Given the description of an element on the screen output the (x, y) to click on. 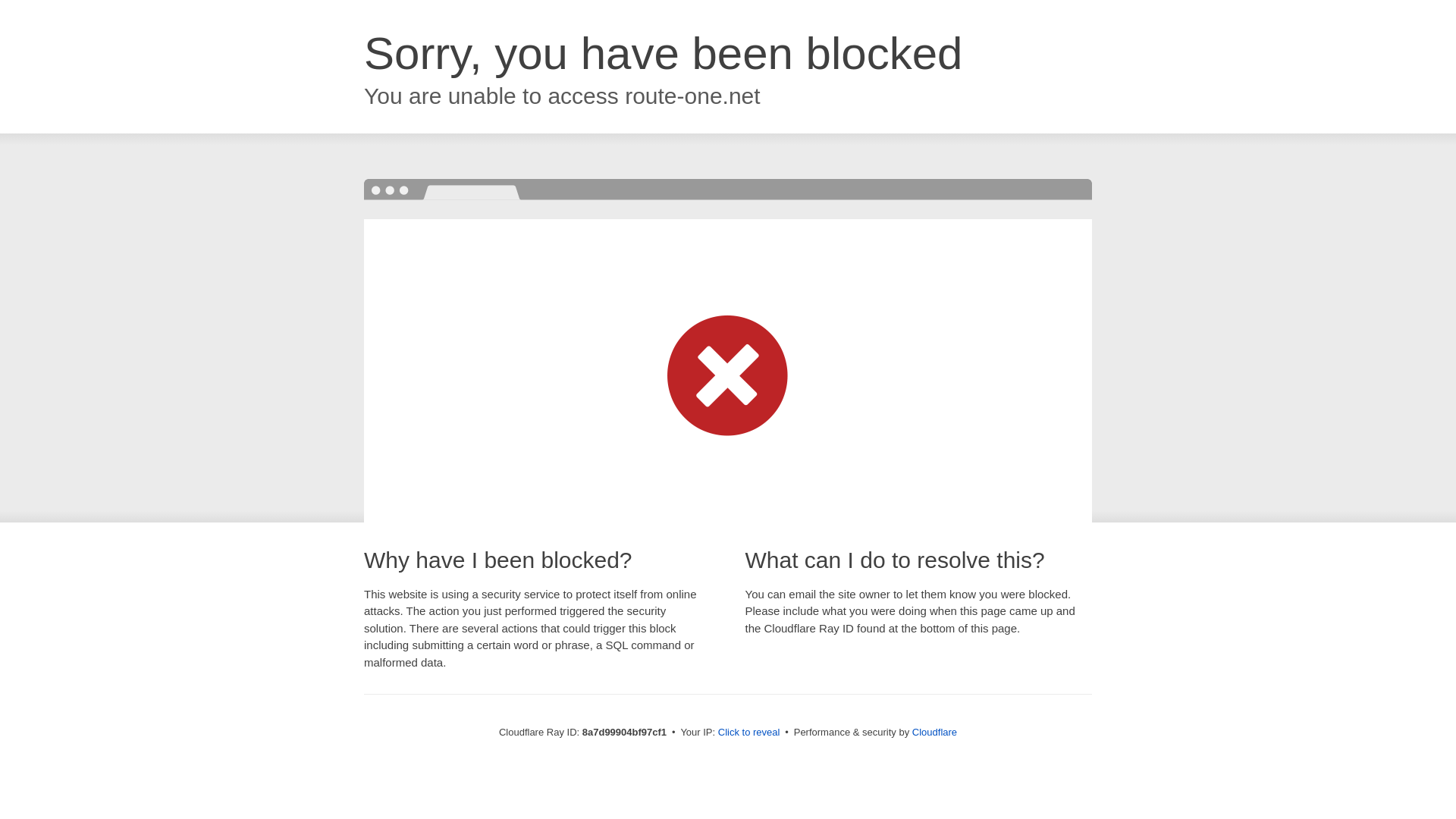
Cloudflare (934, 731)
Click to reveal (748, 732)
